Given the description of an element on the screen output the (x, y) to click on. 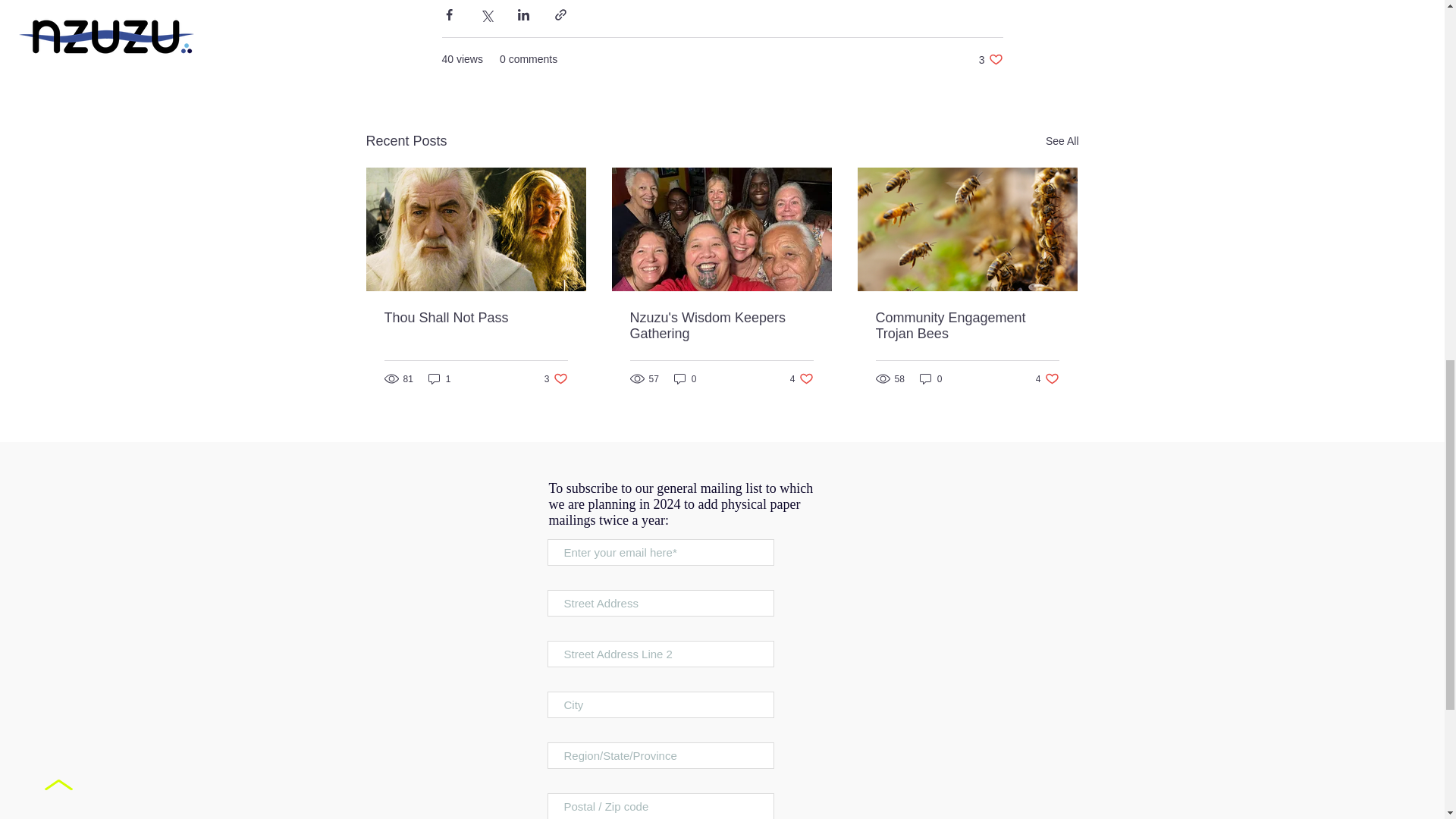
1 (439, 378)
See All (990, 59)
Thou Shall Not Pass (1061, 141)
